Given the description of an element on the screen output the (x, y) to click on. 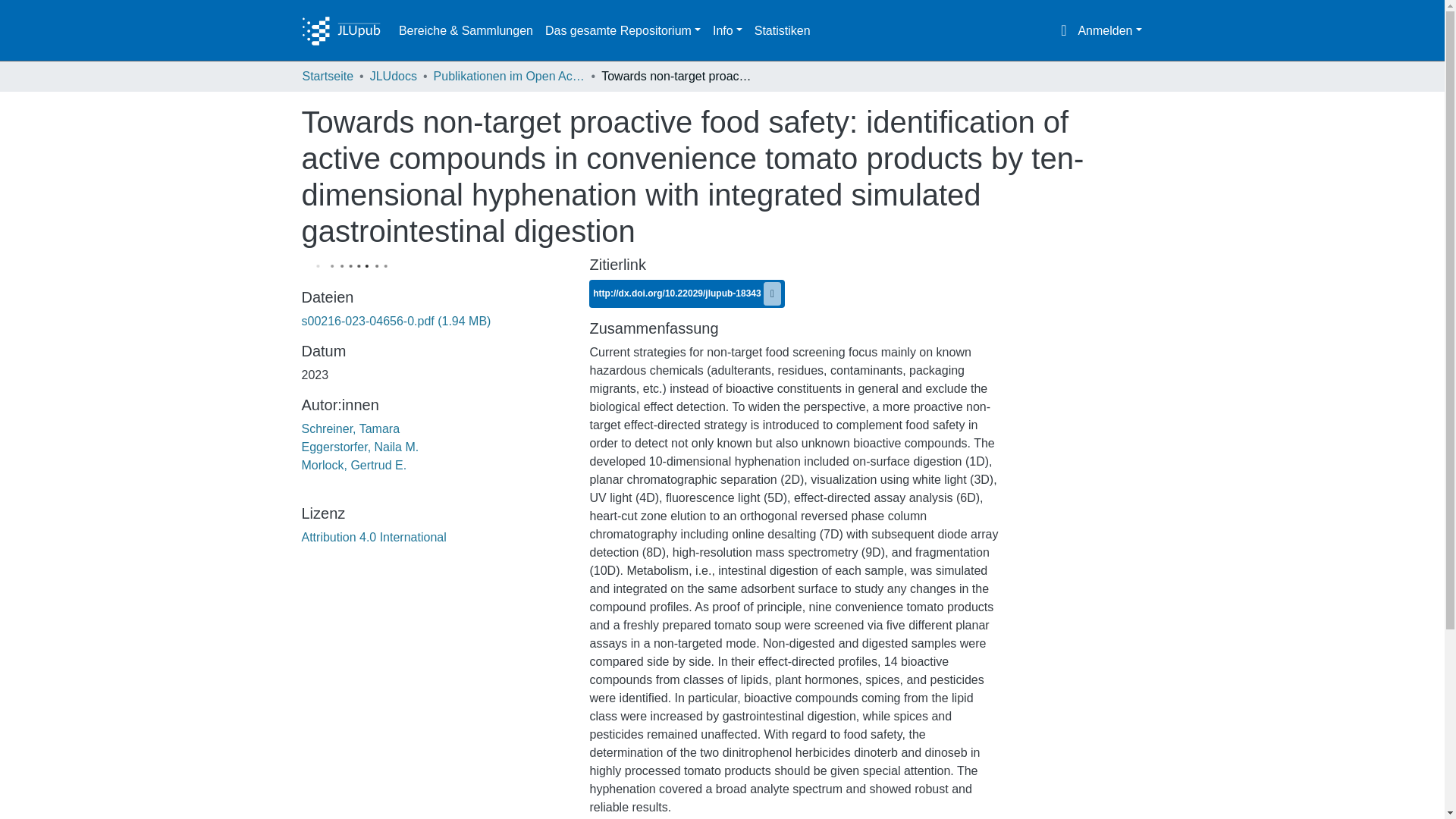
Statistiken (782, 30)
Anmelden (1108, 30)
Info (727, 30)
Das gesamte Repositorium (622, 30)
Statistiken (782, 30)
Startseite (327, 76)
Eggerstorfer, Naila M. (360, 446)
Morlock, Gertrud E. (354, 464)
Sprachumschalter (1063, 30)
Attribution 4.0 International (373, 536)
